Given the description of an element on the screen output the (x, y) to click on. 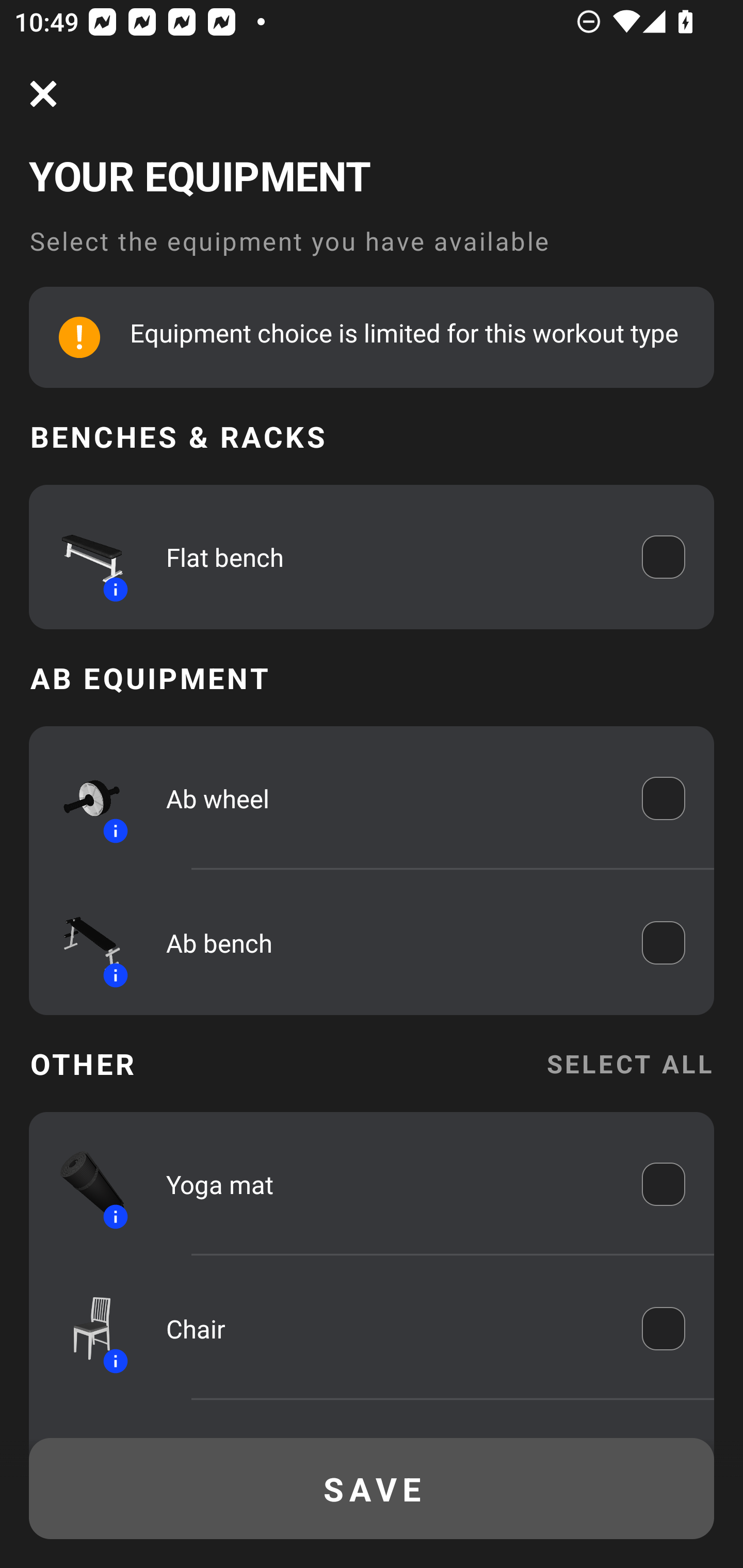
Navigation icon (43, 93)
Equipment icon Information icon (82, 557)
Flat bench (389, 557)
Equipment icon Information icon (82, 798)
Ab wheel (389, 798)
Equipment icon Information icon (82, 943)
Ab bench (389, 943)
SELECT ALL (629, 1063)
Equipment icon Information icon (82, 1184)
Yoga mat (389, 1184)
Equipment icon Information icon (82, 1328)
Chair (389, 1328)
SAVE (371, 1488)
